Given the description of an element on the screen output the (x, y) to click on. 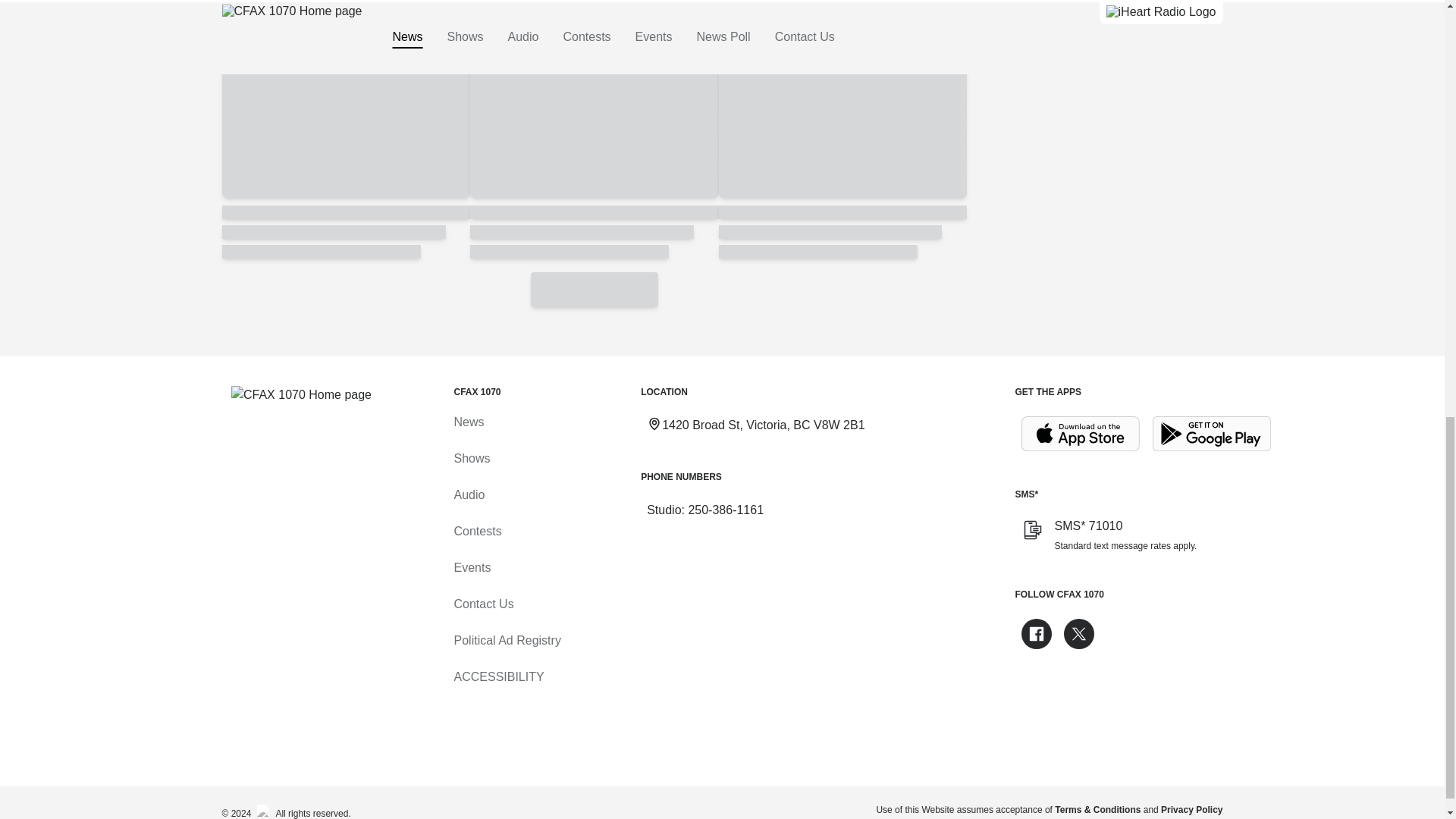
Accessibility (497, 676)
Contests (476, 530)
Audio (468, 494)
Get it on Google Play (1212, 434)
Contact Us (482, 603)
ACCESSIBILITY (497, 676)
Shows (470, 458)
250-386-1161 (724, 509)
News (467, 421)
Political Ad Registry (506, 640)
Privacy Policy (1191, 809)
Download on the App Store (1080, 434)
Events (471, 567)
Privacy Policy (1191, 809)
